Given the description of an element on the screen output the (x, y) to click on. 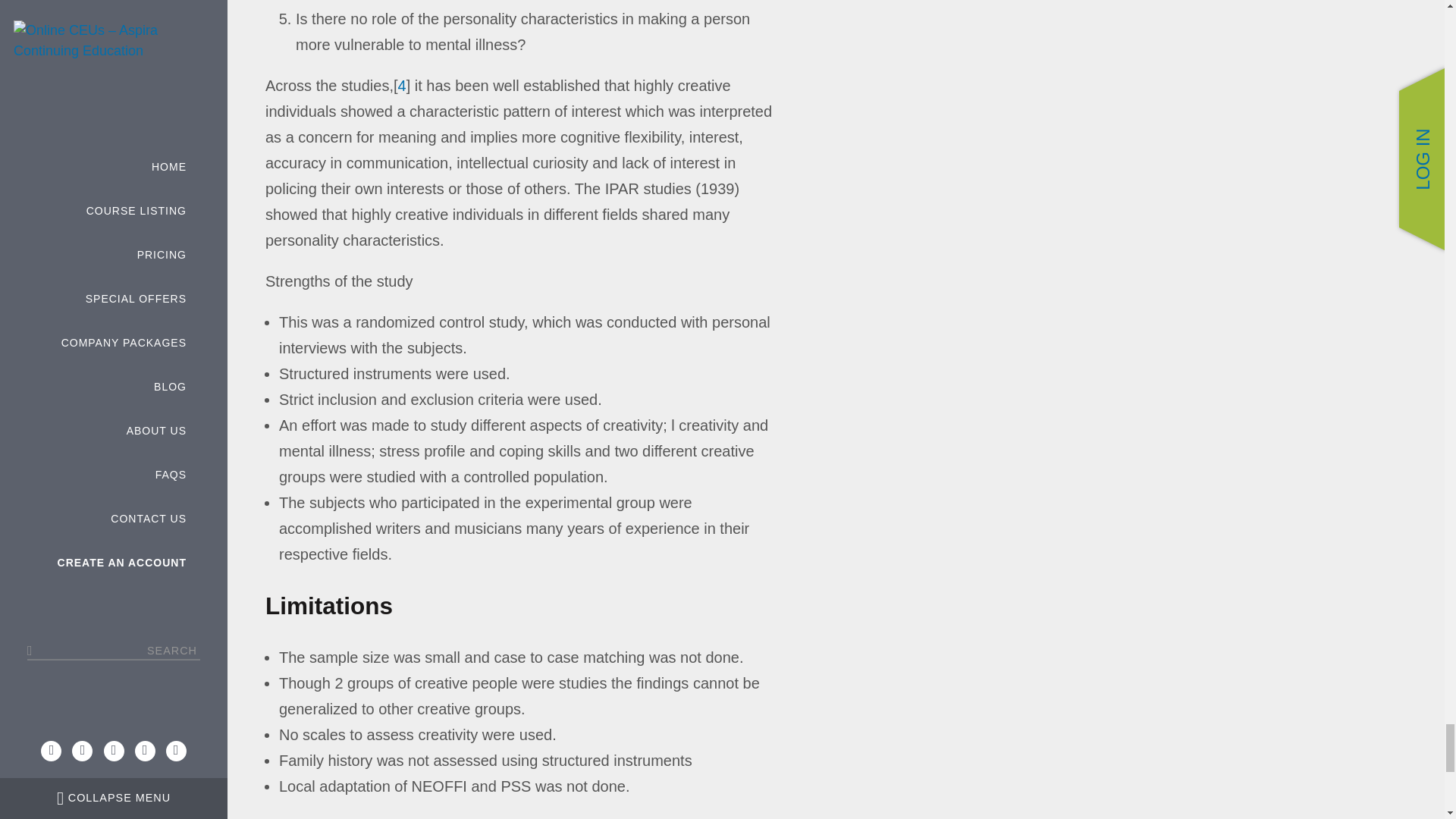
4 (401, 85)
